Given the description of an element on the screen output the (x, y) to click on. 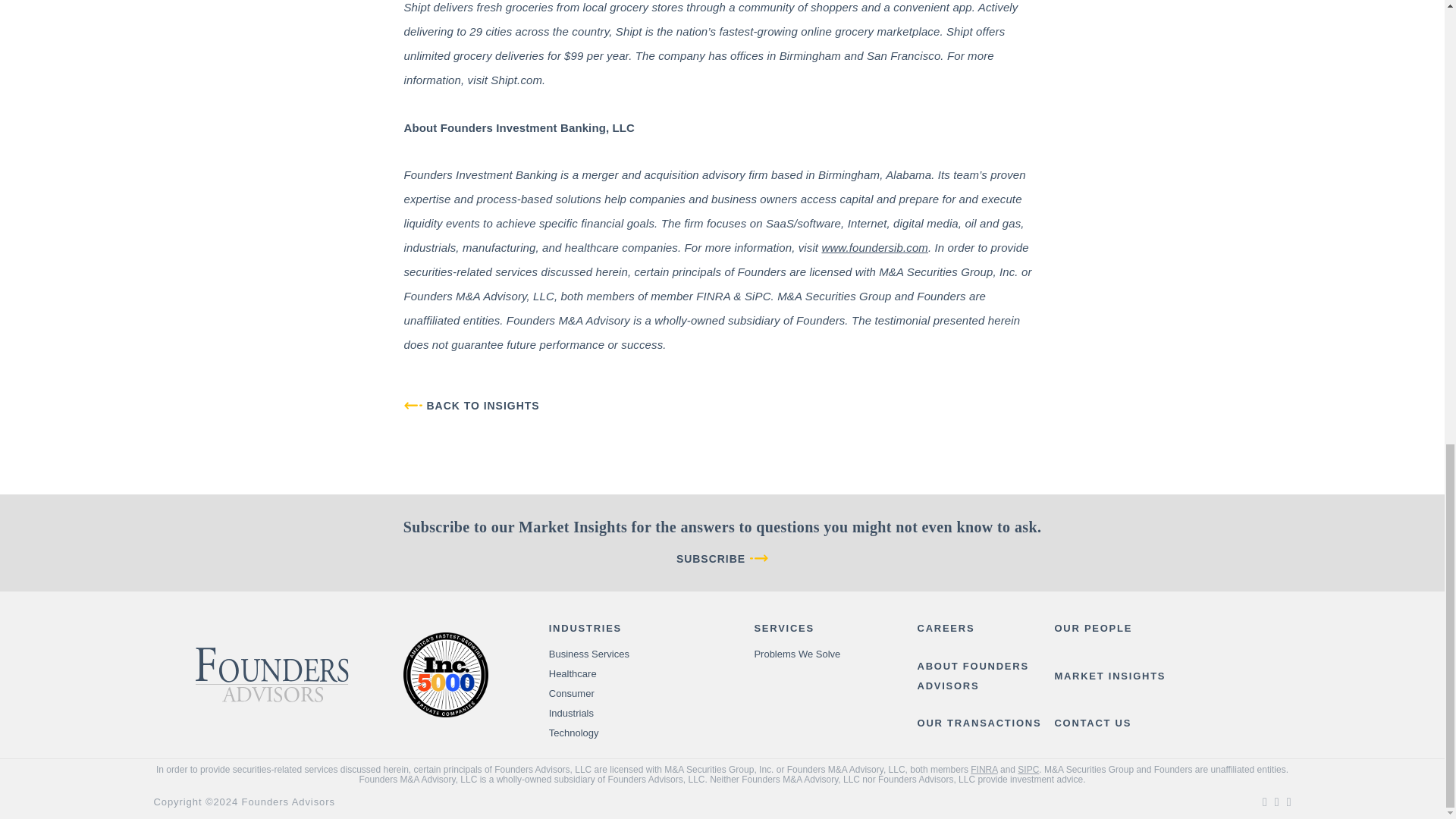
Consumer (571, 693)
SIPC (1028, 769)
CONTACT US (1092, 723)
Problems We Solve (797, 654)
Healthcare (572, 674)
FINRA (984, 769)
www.foundersib.com (874, 246)
BACK TO INSIGHTS (470, 405)
OUR PEOPLE (1093, 629)
ABOUT FOUNDERS ADVISORS (985, 676)
